Given the description of an element on the screen output the (x, y) to click on. 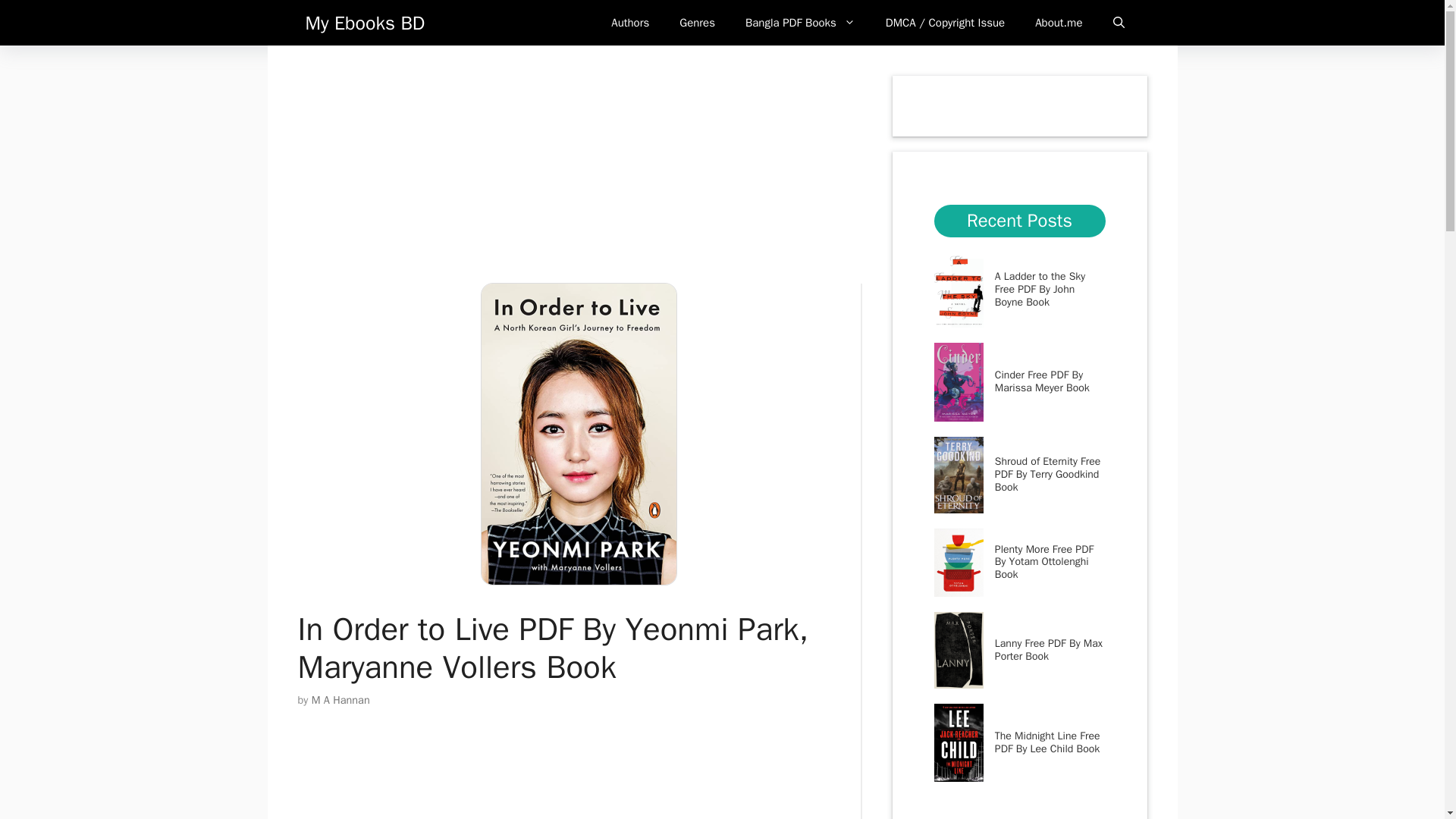
View all posts by M A Hannan (340, 699)
Advertisement (579, 176)
Bangla PDF Books (800, 22)
My Ebooks BD (364, 22)
About.me (1058, 22)
Authors (629, 22)
Genres (696, 22)
Advertisement (590, 776)
M A Hannan (340, 699)
